Given the description of an element on the screen output the (x, y) to click on. 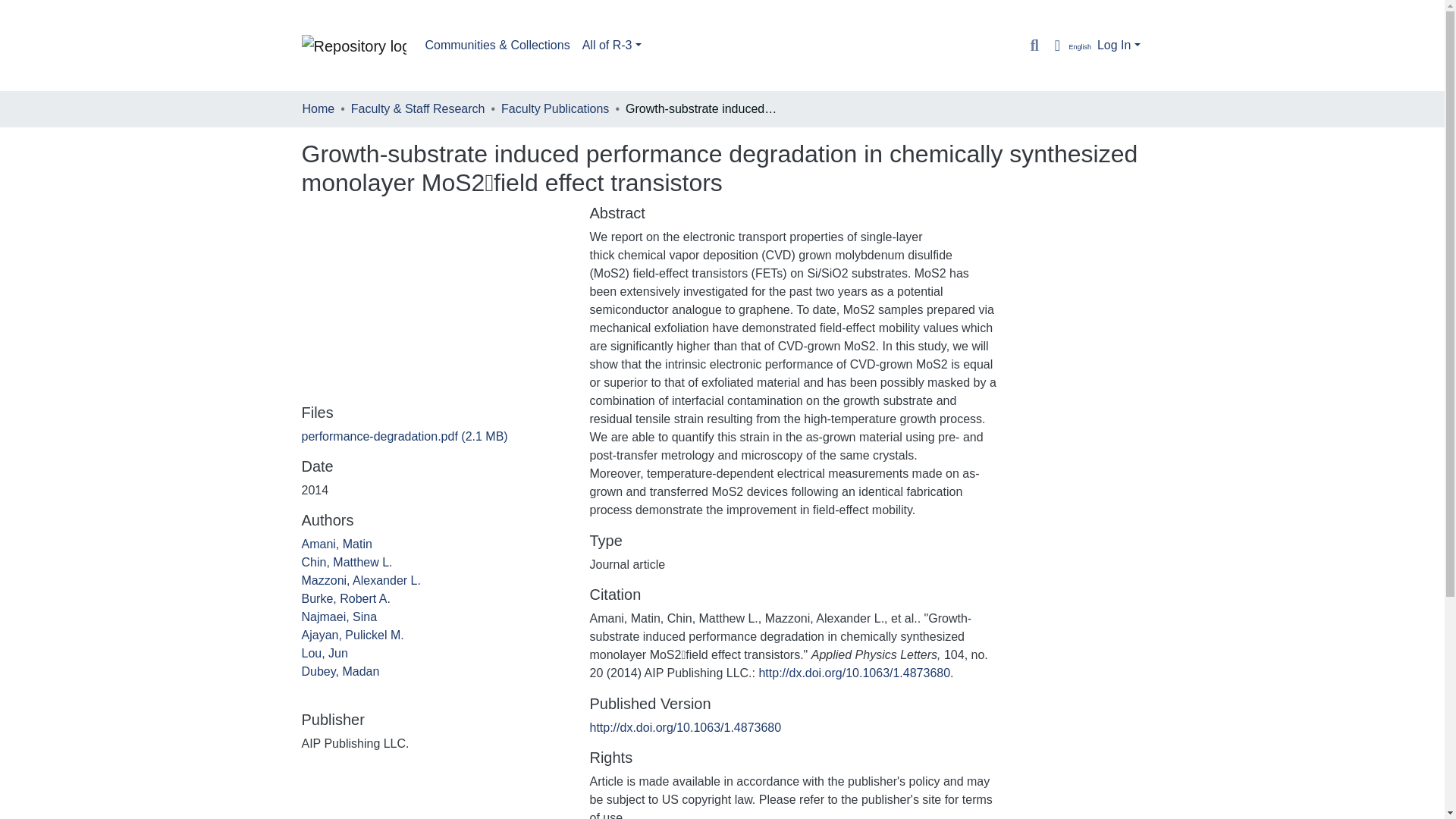
Mazzoni, Alexander L. (360, 580)
Ajayan, Pulickel M. (352, 634)
Log In (1118, 44)
Lou, Jun (324, 653)
Chin, Matthew L. (347, 562)
Search (1035, 45)
Dubey, Madan (340, 671)
All of R-3 (611, 45)
English (1069, 45)
Burke, Robert A. (345, 598)
Language switch (1069, 45)
Faculty Publications (554, 108)
Amani, Matin (336, 543)
Home (317, 108)
Najmaei, Sina (339, 616)
